Given the description of an element on the screen output the (x, y) to click on. 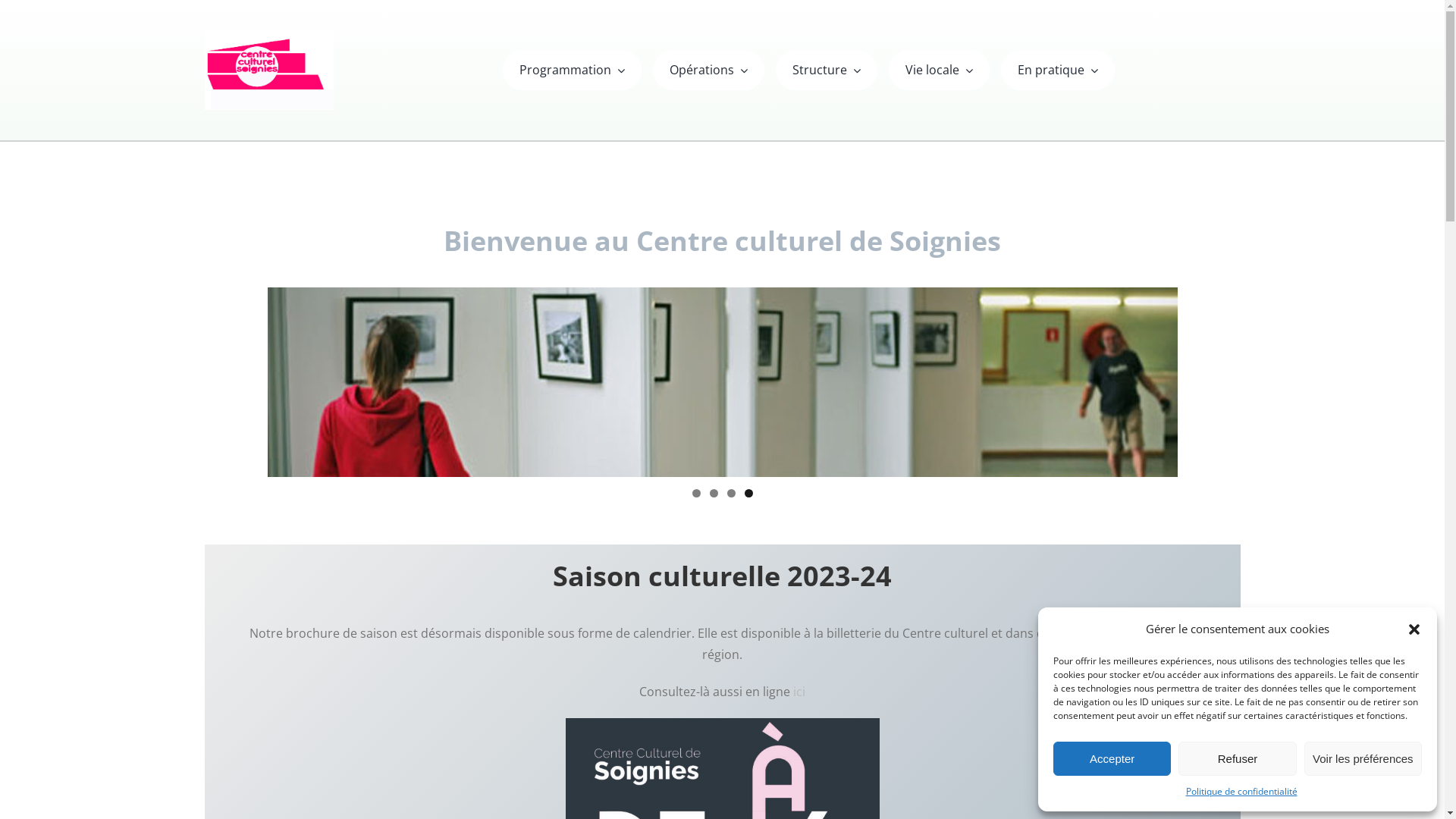
3 Element type: text (730, 493)
Refuser Element type: text (1236, 758)
4 Element type: text (748, 493)
2 Element type: text (713, 493)
Structure Element type: text (826, 70)
Programmation Element type: text (571, 70)
Vie locale Element type: text (938, 70)
En pratique Element type: text (1057, 70)
2 Element type: hover (721, 381)
Accepter Element type: text (1111, 758)
1 Element type: text (695, 493)
ici Element type: text (799, 691)
